Given the description of an element on the screen output the (x, y) to click on. 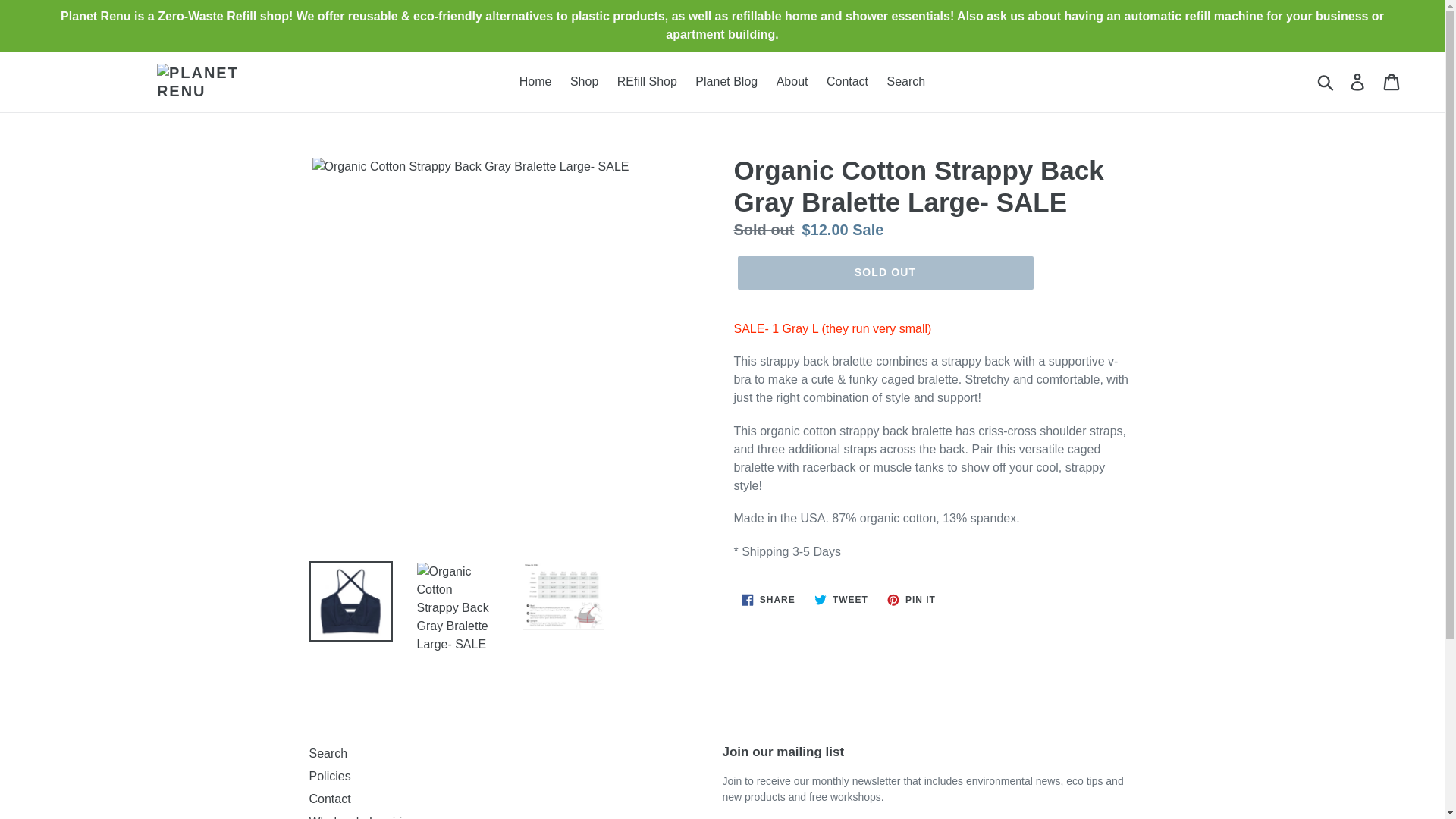
Home (535, 81)
Shop (583, 81)
Search (327, 753)
Cart (1392, 81)
Contact (329, 798)
Submit (1326, 81)
REfill Shop (647, 81)
Search (841, 599)
Contact (906, 81)
